Given the description of an element on the screen output the (x, y) to click on. 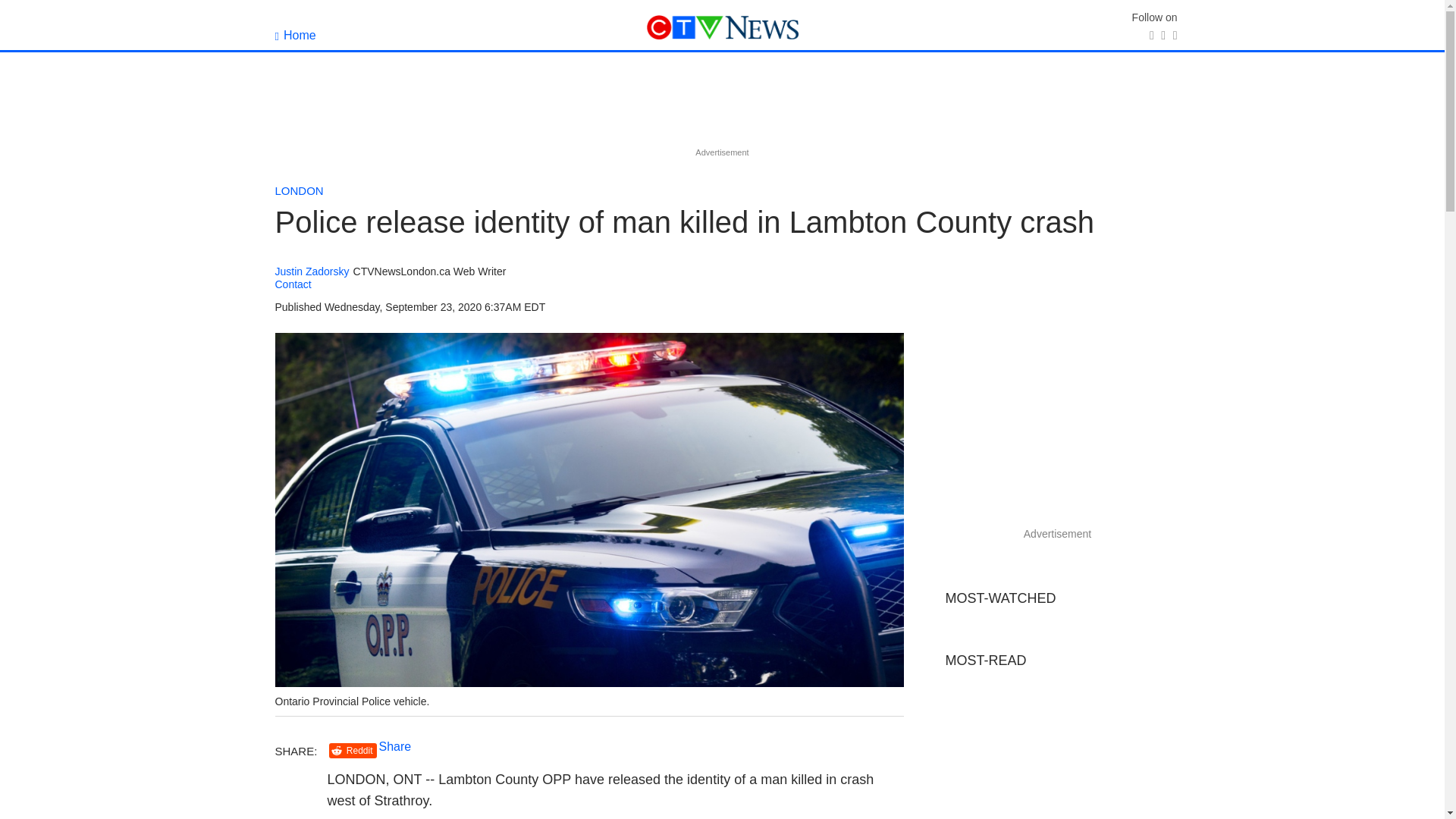
Home (295, 34)
3rd party ad content (721, 109)
Contact (293, 284)
Justin Zadorsky (312, 271)
Reddit (353, 750)
LONDON (299, 190)
Share (395, 746)
